Given the description of an element on the screen output the (x, y) to click on. 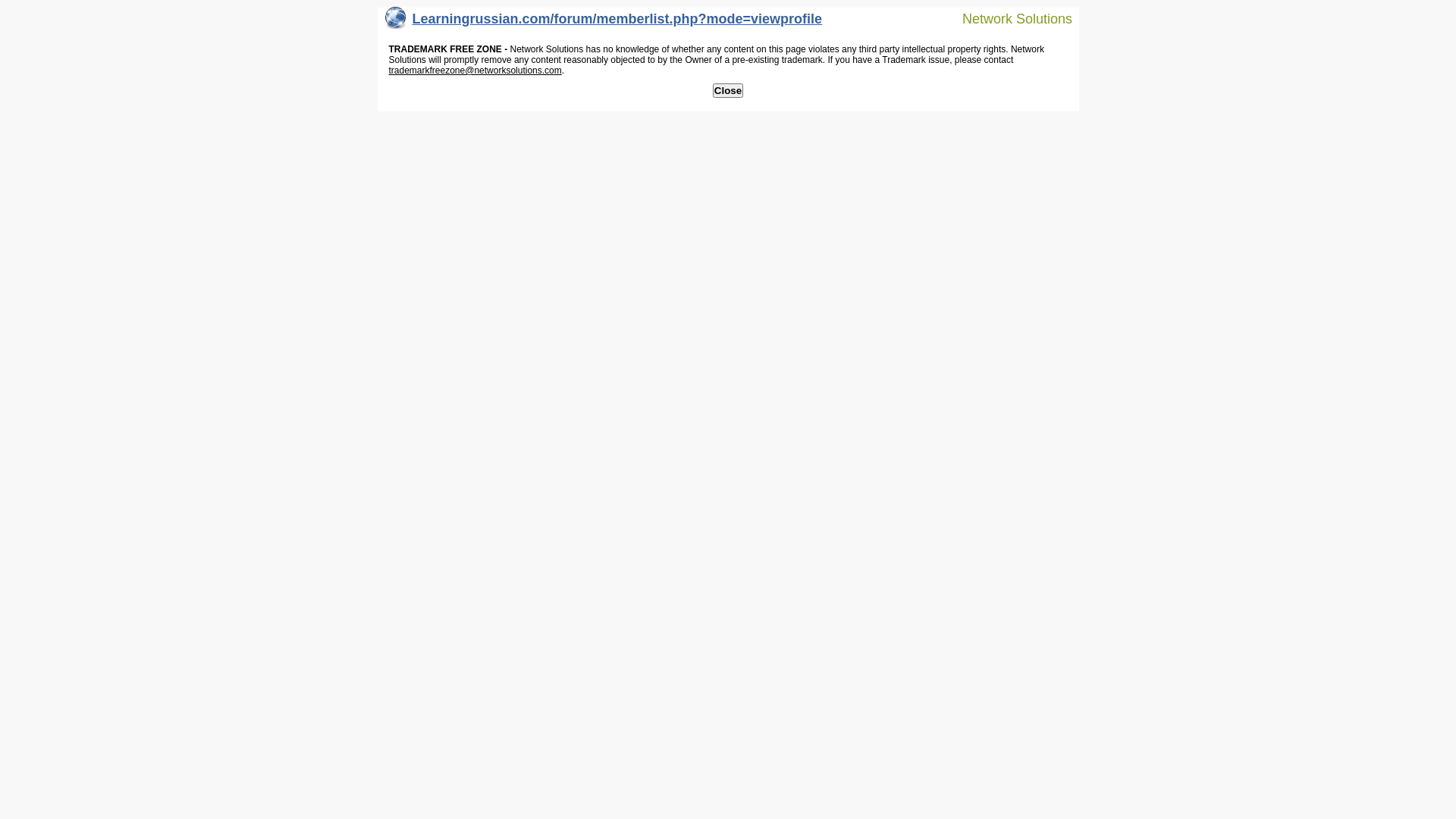
Close Element type: text (727, 90)
Learningrussian.com/forum/memberlist.php?mode=viewprofile Element type: text (603, 21)
Network Solutions Element type: text (1007, 17)
trademarkfreezone@networksolutions.com Element type: text (474, 70)
